Given the description of an element on the screen output the (x, y) to click on. 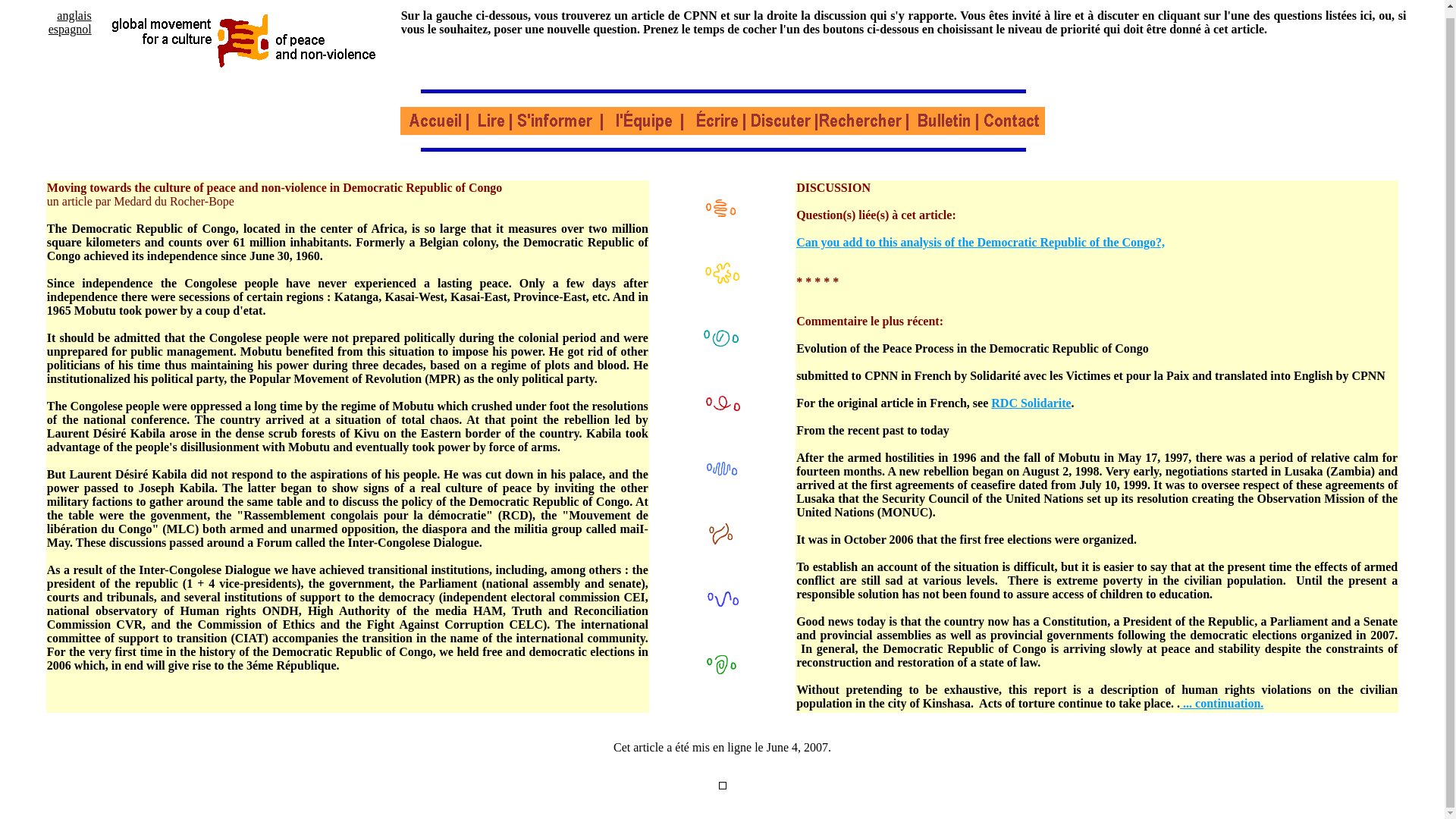
anglais (73, 15)
RDC Solidarite (1030, 402)
... continuation. (1221, 703)
espagnol (69, 29)
